Given the description of an element on the screen output the (x, y) to click on. 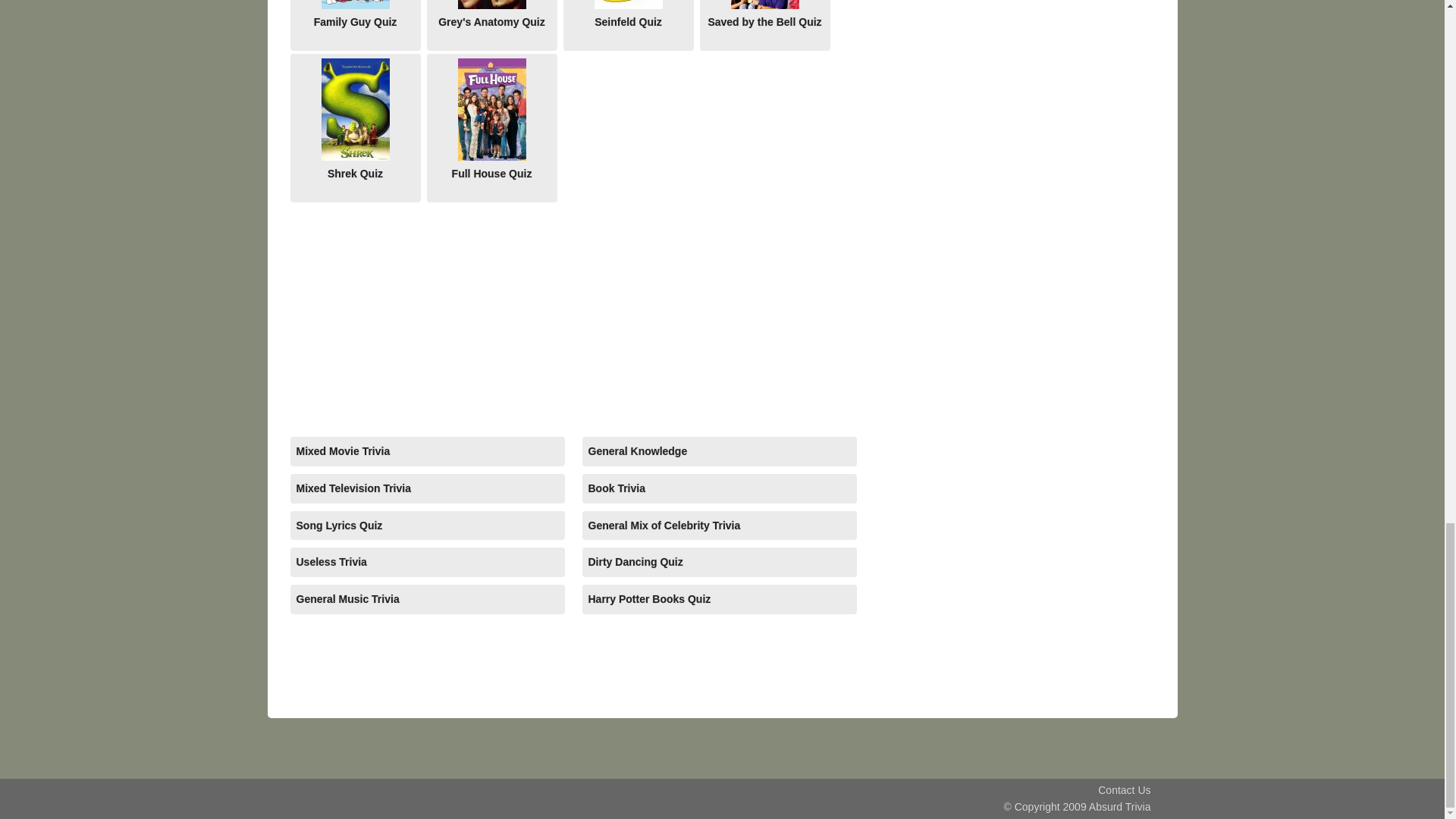
General Music Trivia (426, 599)
Song Lyrics Quiz (426, 525)
Useless Trivia (426, 562)
General Mix of Celebrity Trivia (719, 525)
Mixed Movie Trivia (426, 451)
Seinfeld Quiz (627, 25)
Mixed Television Trivia (426, 488)
Grey's Anatomy Quiz (491, 25)
General Knowledge (719, 451)
Book Trivia (719, 488)
Family Guy Quiz (354, 25)
Saved by the Bell Quiz (763, 25)
